Given the description of an element on the screen output the (x, y) to click on. 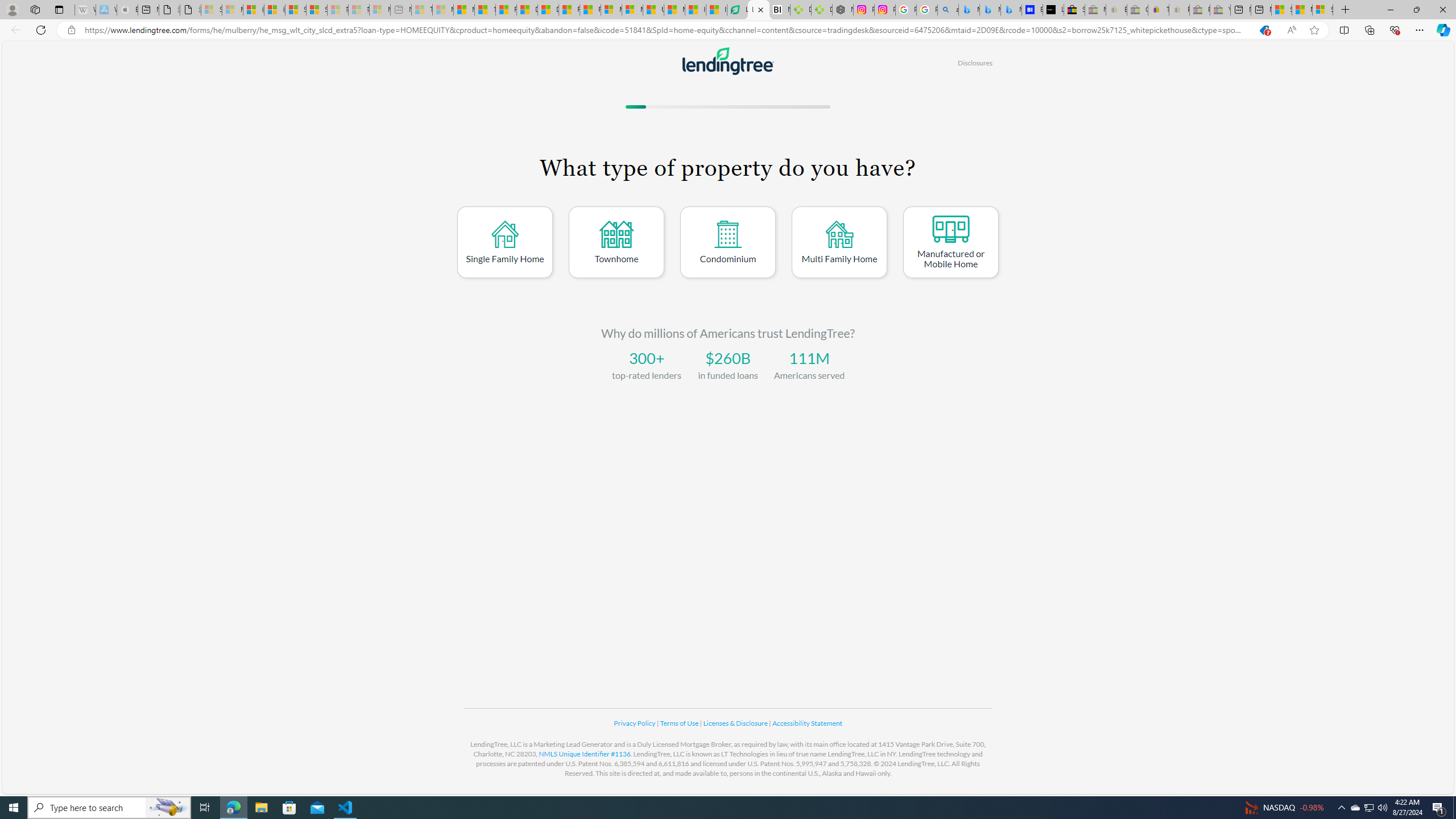
Foo BAR | Trusted Community Engagement and Contributions (590, 9)
Privacy Policy  (634, 723)
Food and Drink - MSN (505, 9)
alabama high school quarterback dies - Search (948, 9)
Nordace - Nordace Edin Collection (842, 9)
Payments Terms of Use | eBay.com - Sleeping (1178, 9)
This site has coupons! Shopping in Microsoft Edge, 7 (1263, 29)
Top Stories - MSN - Sleeping (421, 9)
Selling on eBay | Electronics, Fashion, Home & Garden | eBay (1073, 9)
